Given the description of an element on the screen output the (x, y) to click on. 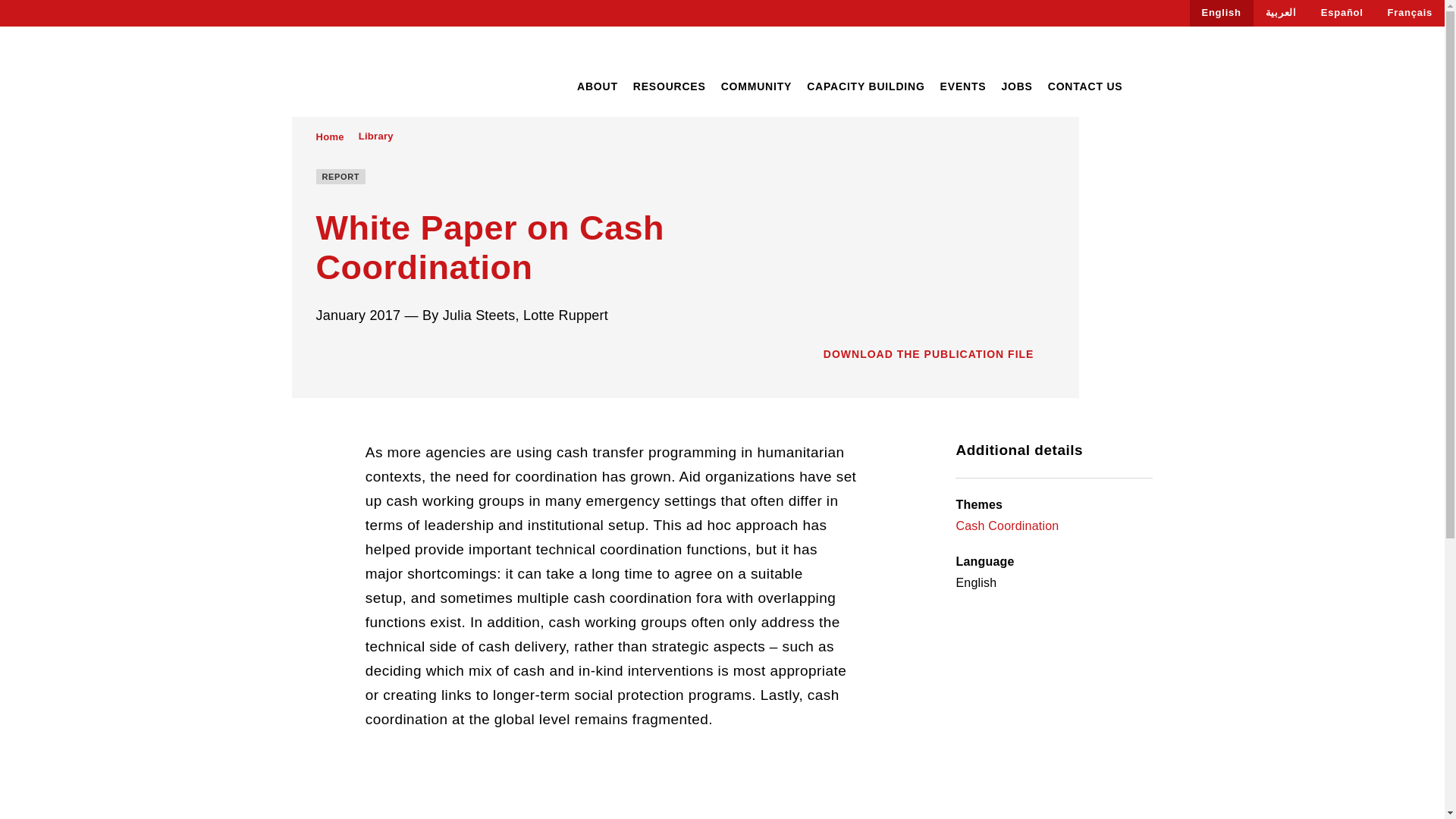
ABOUT (596, 86)
RESOURCES (669, 86)
Go to Home (329, 136)
Go to homepage (363, 72)
Share on Twitter (350, 355)
Share on Facebook (321, 355)
EVENTS (963, 86)
Share on email (407, 355)
CAPACITY BUILDING (865, 86)
